Given the description of an element on the screen output the (x, y) to click on. 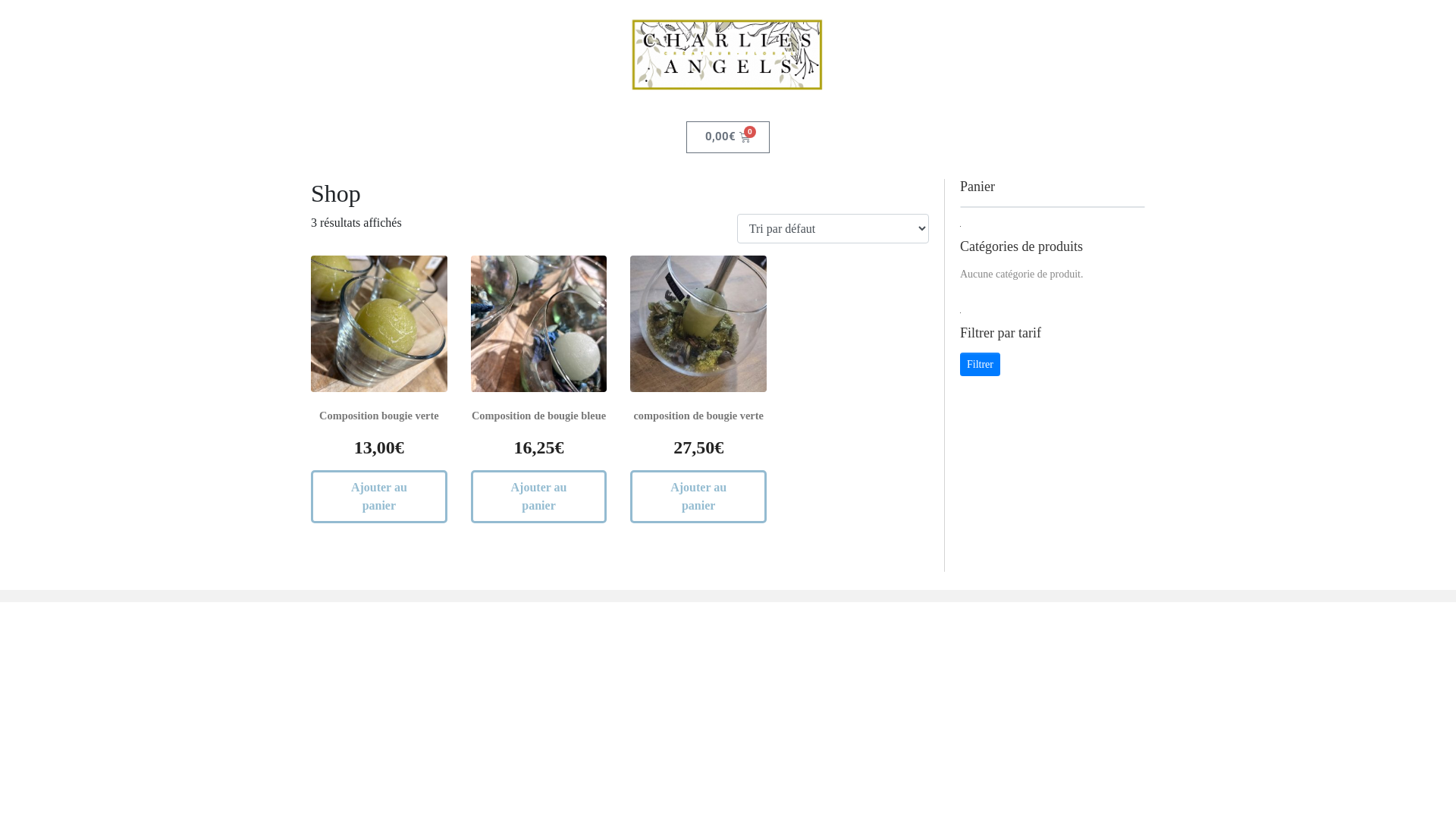
Ajouter au panier Element type: text (378, 496)
Ajouter au panier Element type: text (538, 496)
Filtrer Element type: text (980, 364)
Ajouter au panier Element type: text (698, 496)
